Given the description of an element on the screen output the (x, y) to click on. 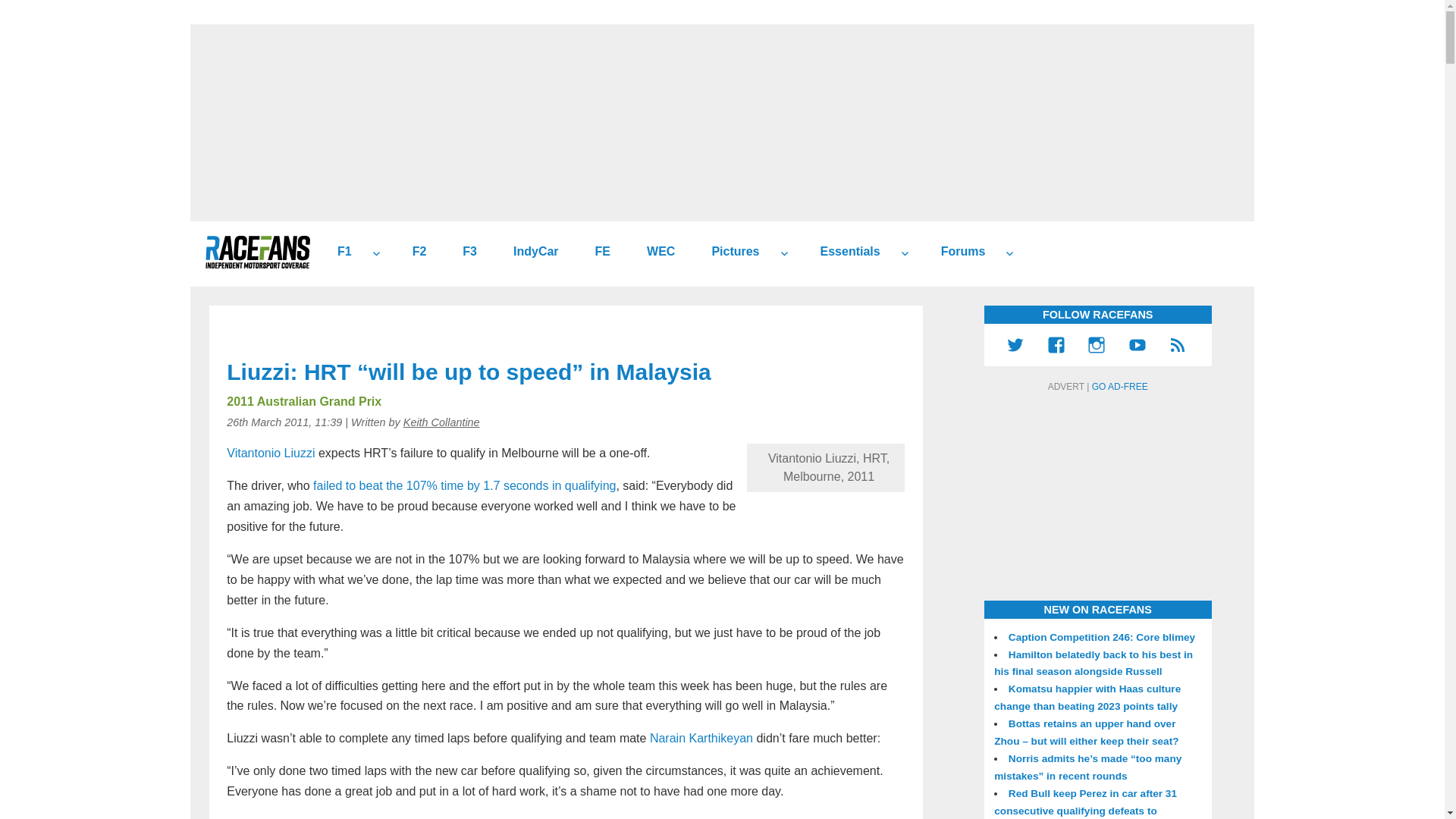
F2 (413, 251)
Formula 1 (338, 251)
World Endurance Championship (655, 251)
F1 pictures and wallpapers (729, 251)
F1 (338, 251)
expand child menu (904, 253)
expand child menu (783, 253)
Formula 2 (413, 251)
IndyCar (529, 251)
IndyCar (529, 251)
